Given the description of an element on the screen output the (x, y) to click on. 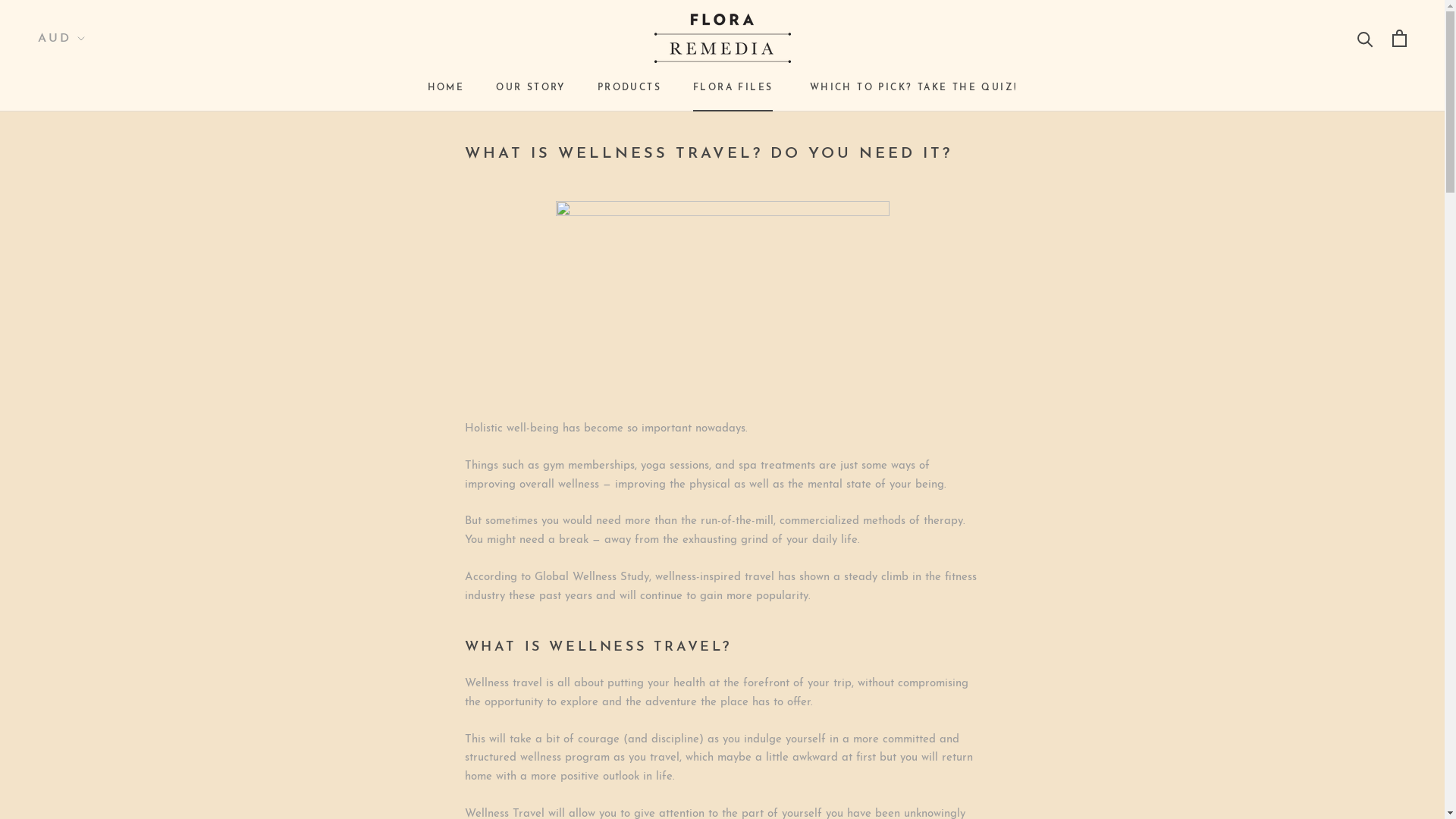
PRODUCTS
PRODUCTS Element type: text (629, 87)
OUR STORY
OUR STORY Element type: text (530, 87)
HOME
HOME Element type: text (445, 87)
FLORA FILES
FLORA FILES Element type: text (732, 87)
